Given the description of an element on the screen output the (x, y) to click on. 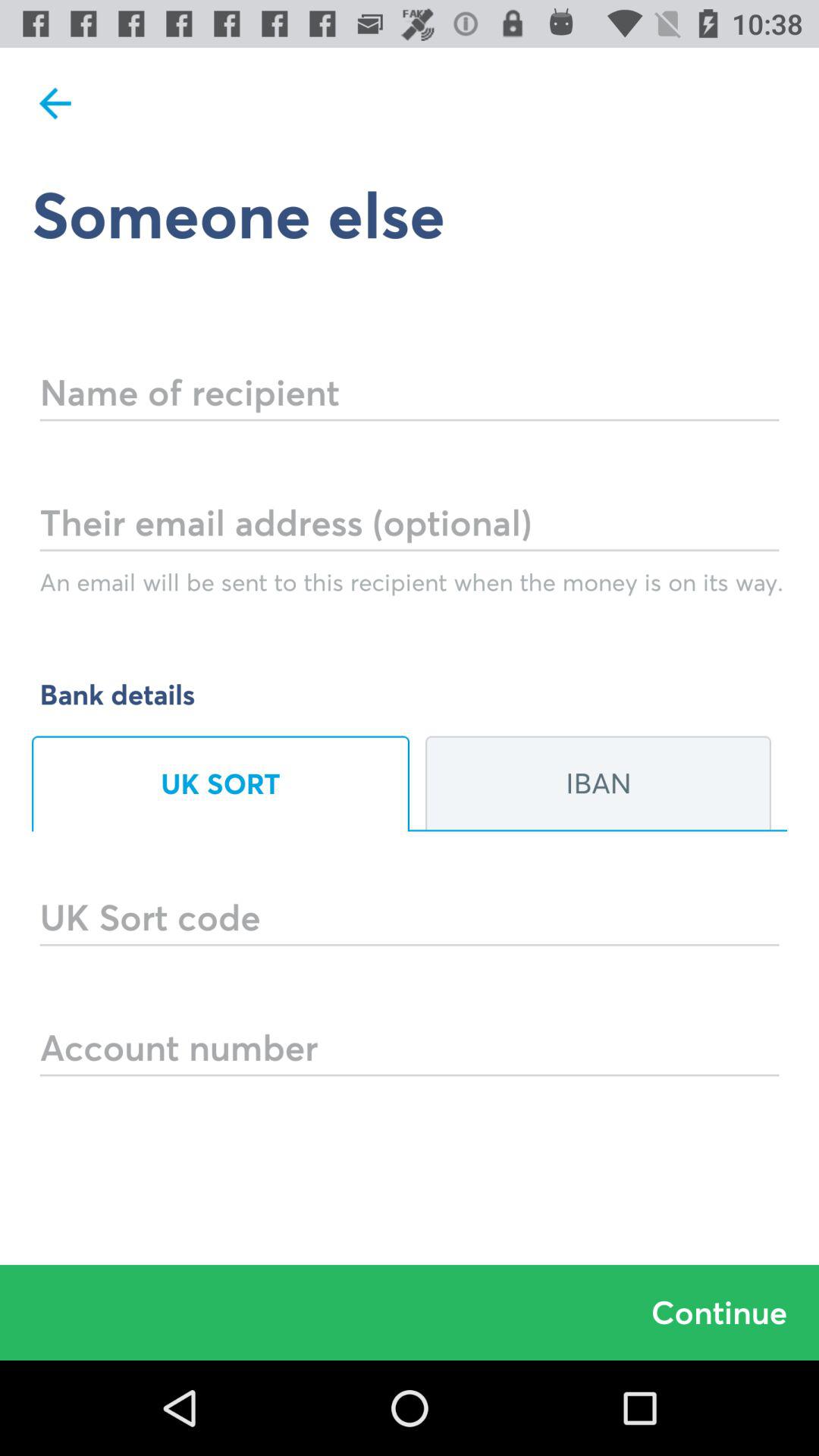
click the continue (409, 1312)
